Given the description of an element on the screen output the (x, y) to click on. 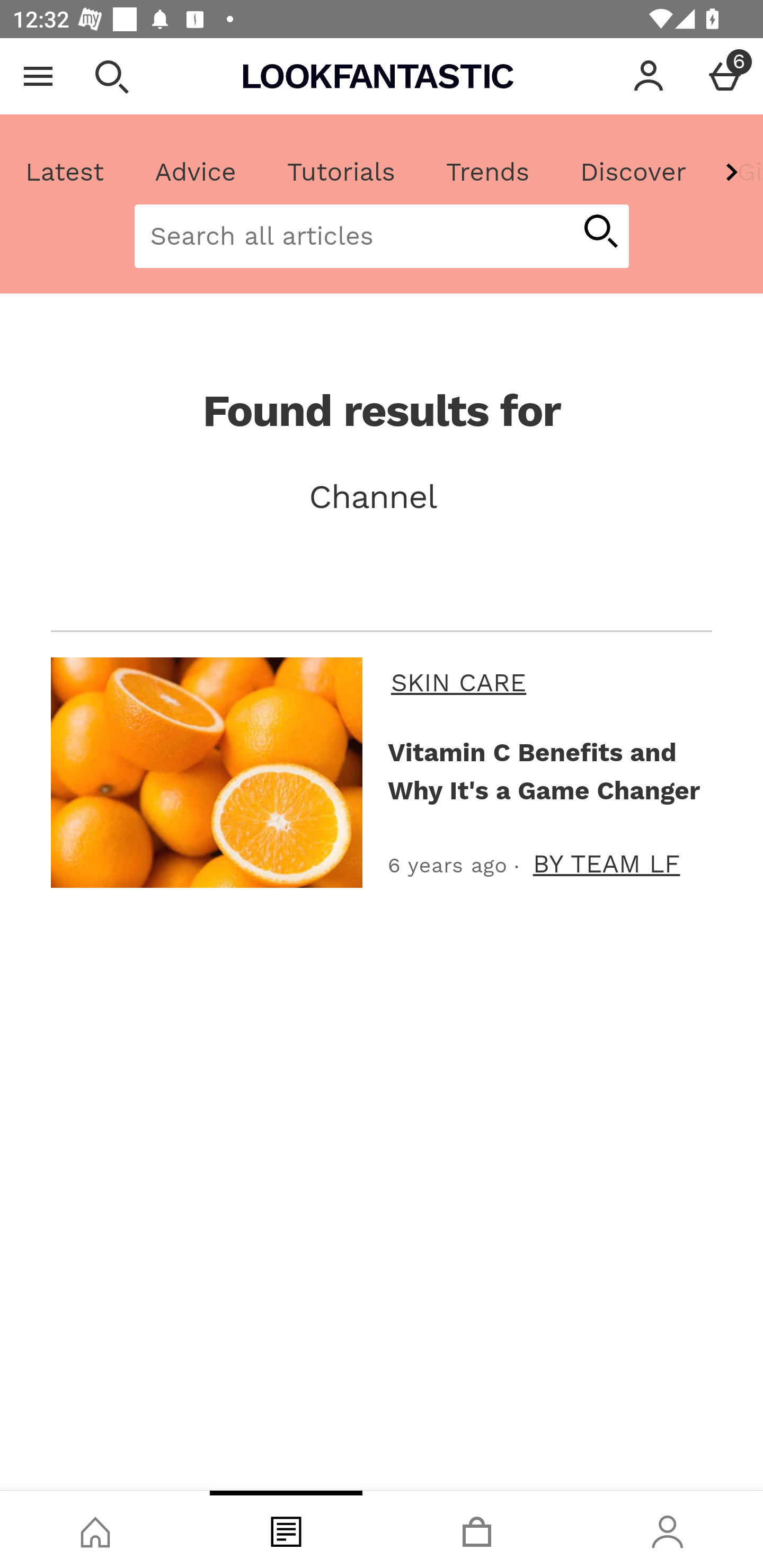
Open Menu (38, 75)
Open search (111, 75)
Account (648, 75)
Basket Menu (724, 75)
Latest (65, 172)
Advice (195, 172)
Tutorials (340, 172)
Trends (486, 172)
Discover (632, 172)
Gift Guide (736, 172)
start article search (599, 232)
Channel (381, 496)
SKIN CARE (547, 682)
Vitamin C Benefits and Why It's a Game Changer (546, 771)
BY TEAM LF (606, 863)
Shop, tab, 1 of 4 (95, 1529)
Blog, tab, 2 of 4 (285, 1529)
Basket, tab, 3 of 4 (476, 1529)
Account, tab, 4 of 4 (667, 1529)
